Given the description of an element on the screen output the (x, y) to click on. 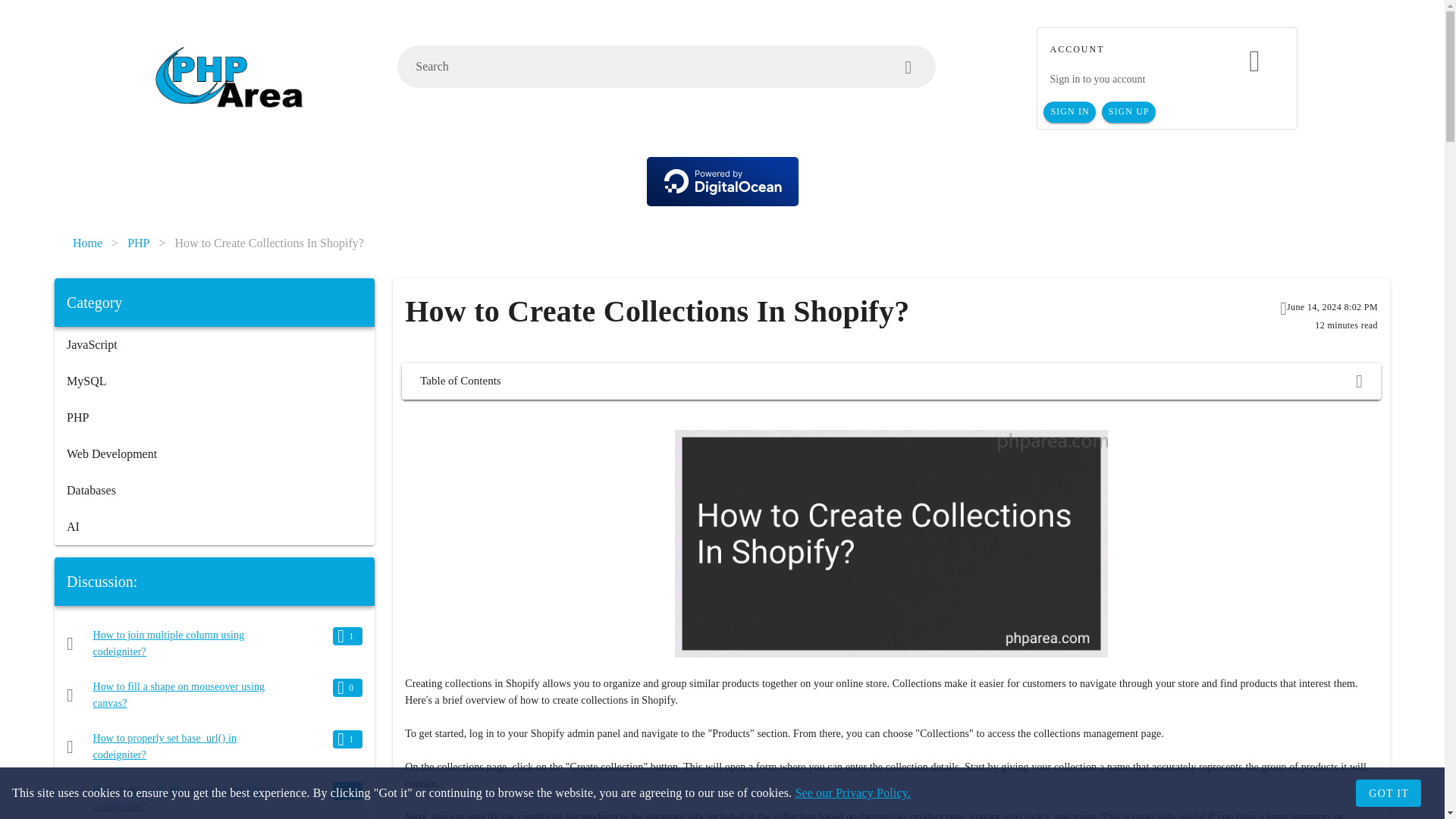
How to delete all files except some files in codeigniter? (185, 797)
AI (214, 526)
How to fill a shape on mouseover using canvas? (178, 694)
Home (86, 243)
How to Create Collections In Shopify? (269, 243)
How to fill a shape on mouseover using canvas? (178, 694)
How to join multiple column using codeigniter? (168, 643)
How to join multiple column using codeigniter? (168, 643)
PHP (138, 243)
SIGN UP (1129, 111)
Table of Contents (890, 381)
MySQL (214, 381)
SIGN IN (1068, 111)
JavaScript (214, 344)
Web Development (214, 453)
